Given the description of an element on the screen output the (x, y) to click on. 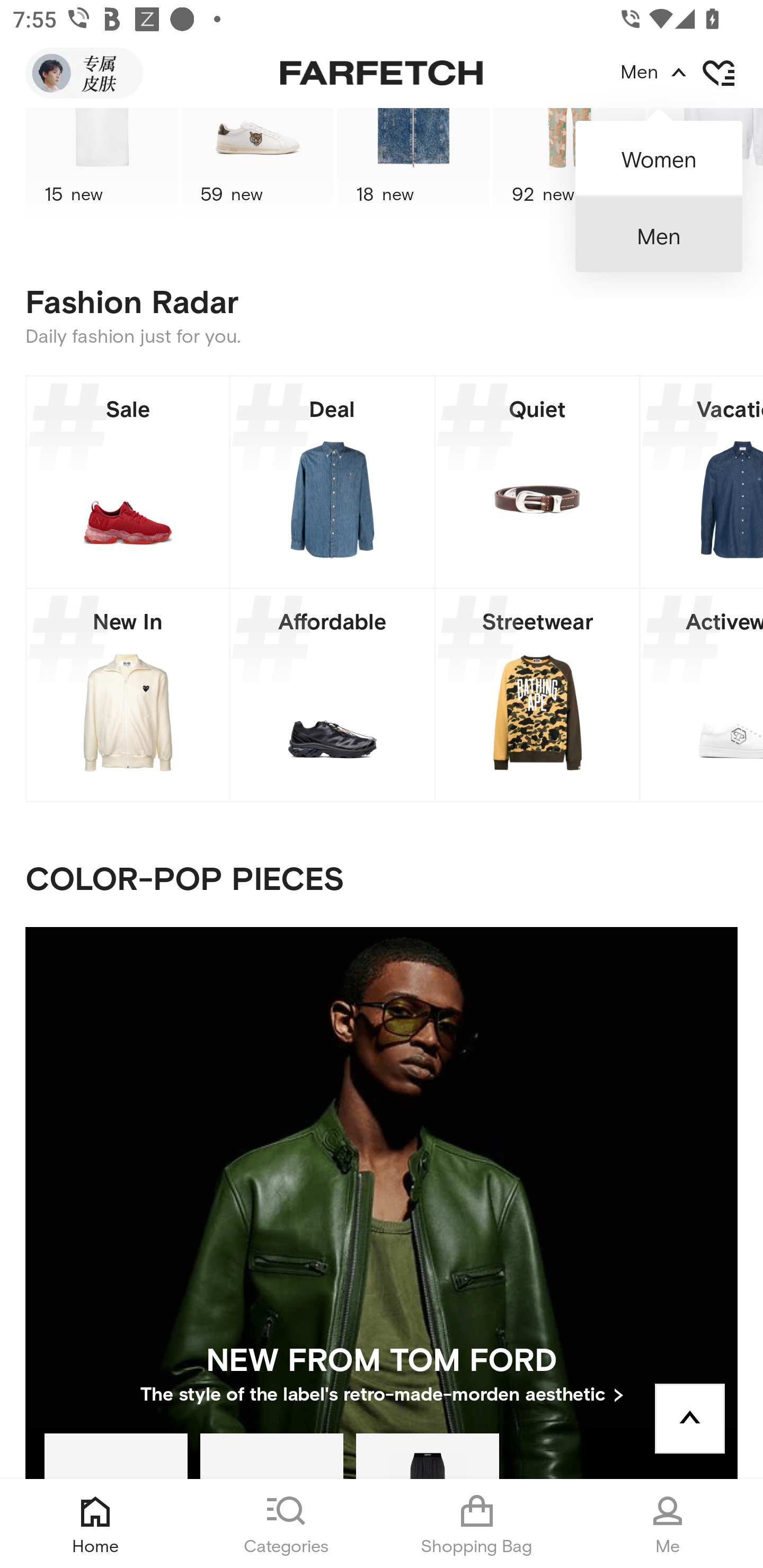
Women (658, 151)
Men (658, 234)
